Given the description of an element on the screen output the (x, y) to click on. 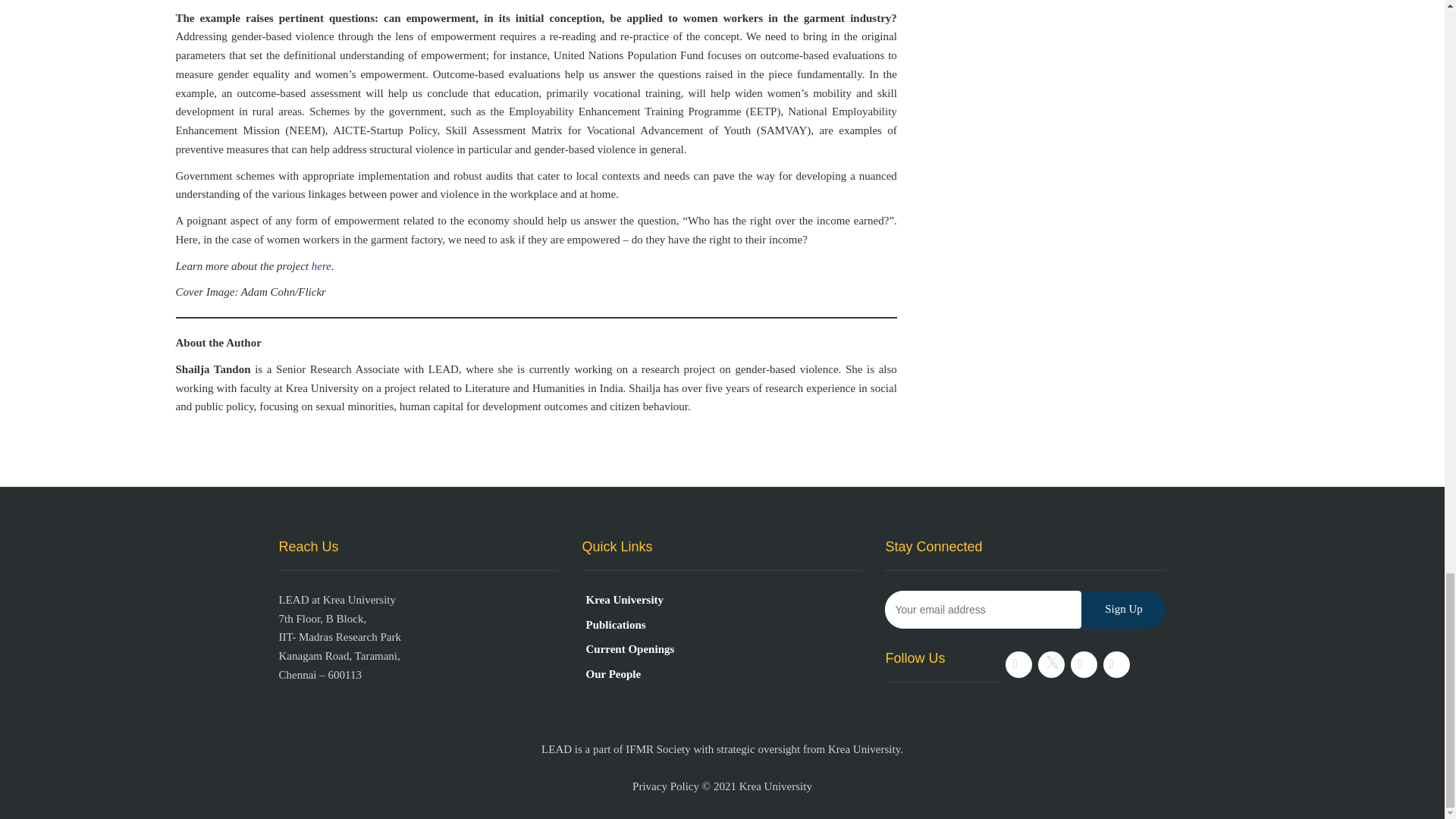
Sign Up (1123, 609)
